Given the description of an element on the screen output the (x, y) to click on. 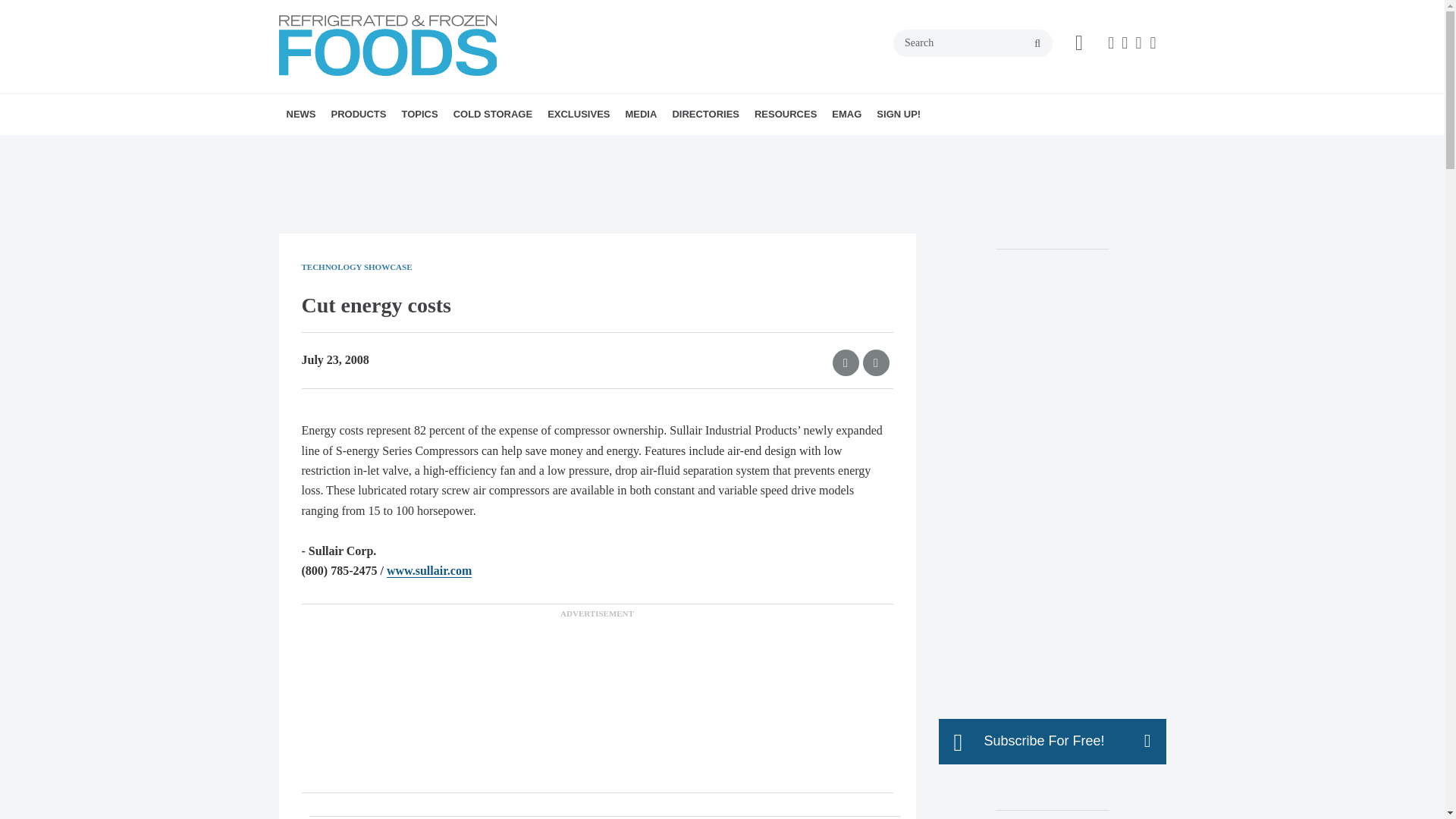
Search (972, 42)
NEW RETAIL PRODUCTS (417, 147)
INDUSTRY NEWS (373, 147)
TOP 150 FROZEN FOOD PROCESSORS (651, 156)
FEATURED PRODUCTS (424, 147)
search (1037, 43)
FOOD SAFETY (496, 147)
SUPPLIER NEWS (386, 147)
MEDIA (640, 114)
FARM TO FROZEN (547, 147)
